Given the description of an element on the screen output the (x, y) to click on. 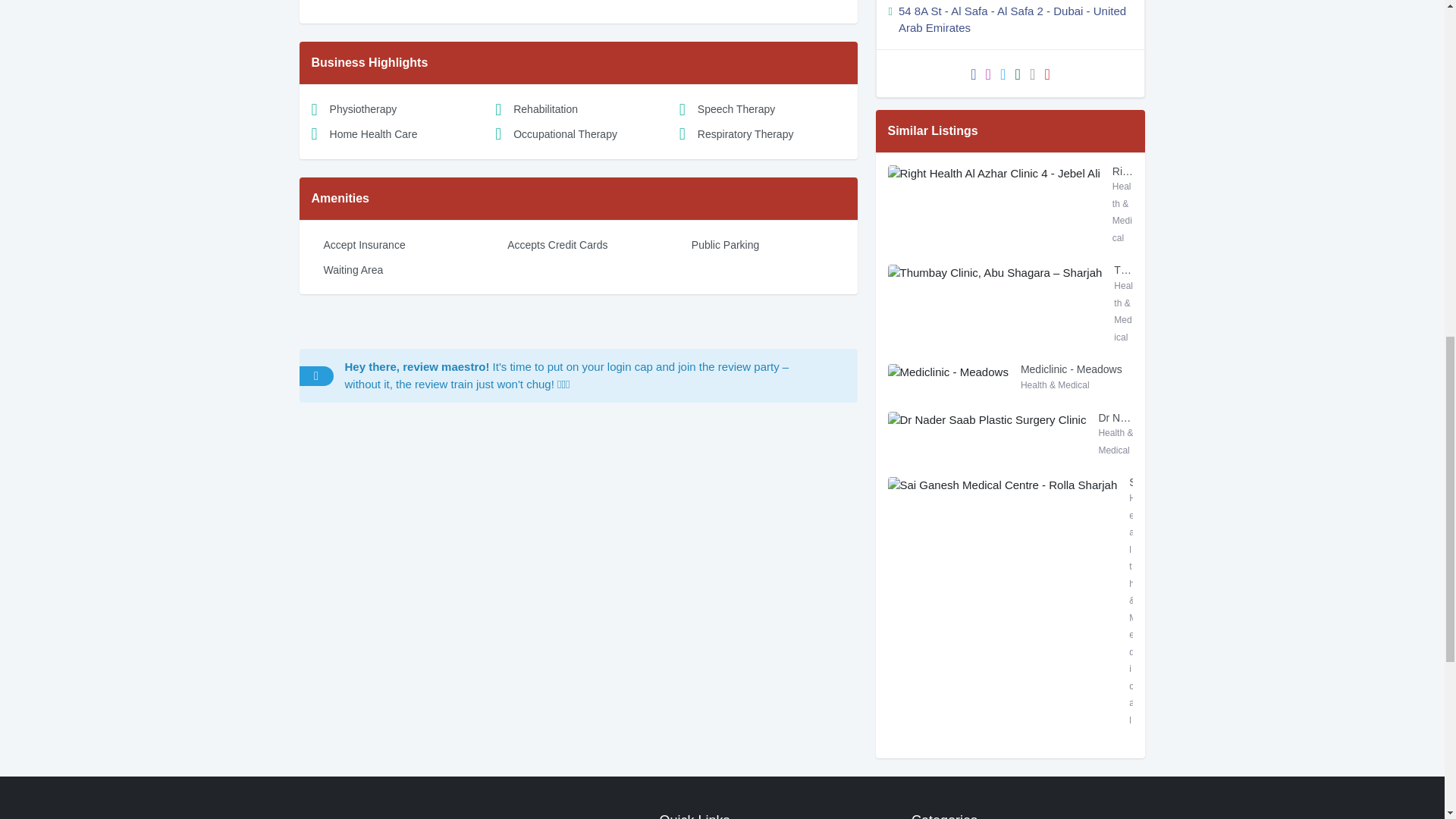
Dr Nader Saab Plastic Surgery Clinic (1114, 424)
Mediclinic - Meadows (1077, 376)
Right Health Al Azhar Clinic 4 - Jebel Ali (1123, 178)
Sai Ganesh Medical Centre - Rolla Sharjah (1130, 489)
